Given the description of an element on the screen output the (x, y) to click on. 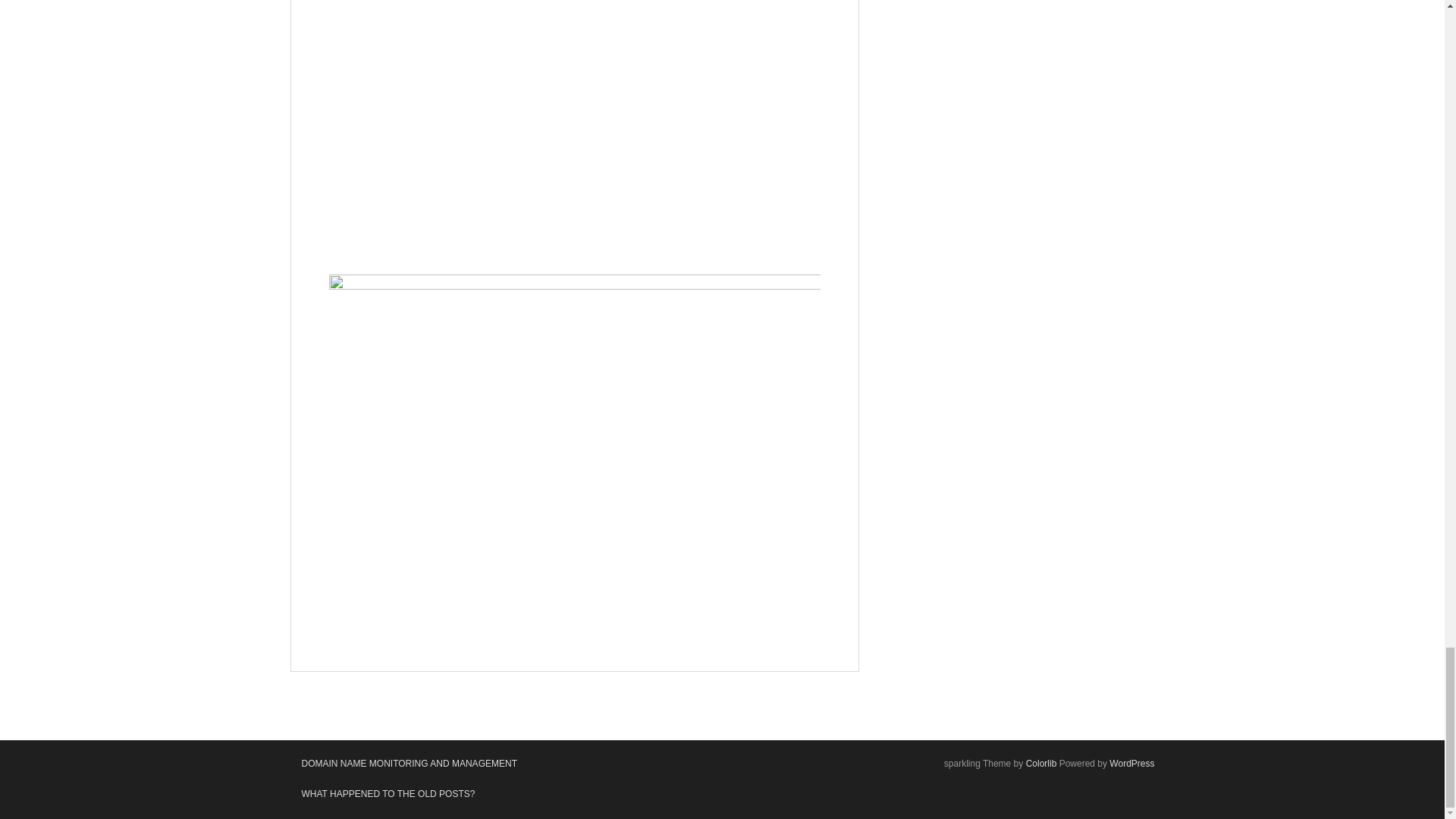
Colorlib (1041, 763)
WHAT HAPPENED TO THE OLD POSTS? (387, 793)
DOMAIN NAME MONITORING AND MANAGEMENT (408, 763)
